Given the description of an element on the screen output the (x, y) to click on. 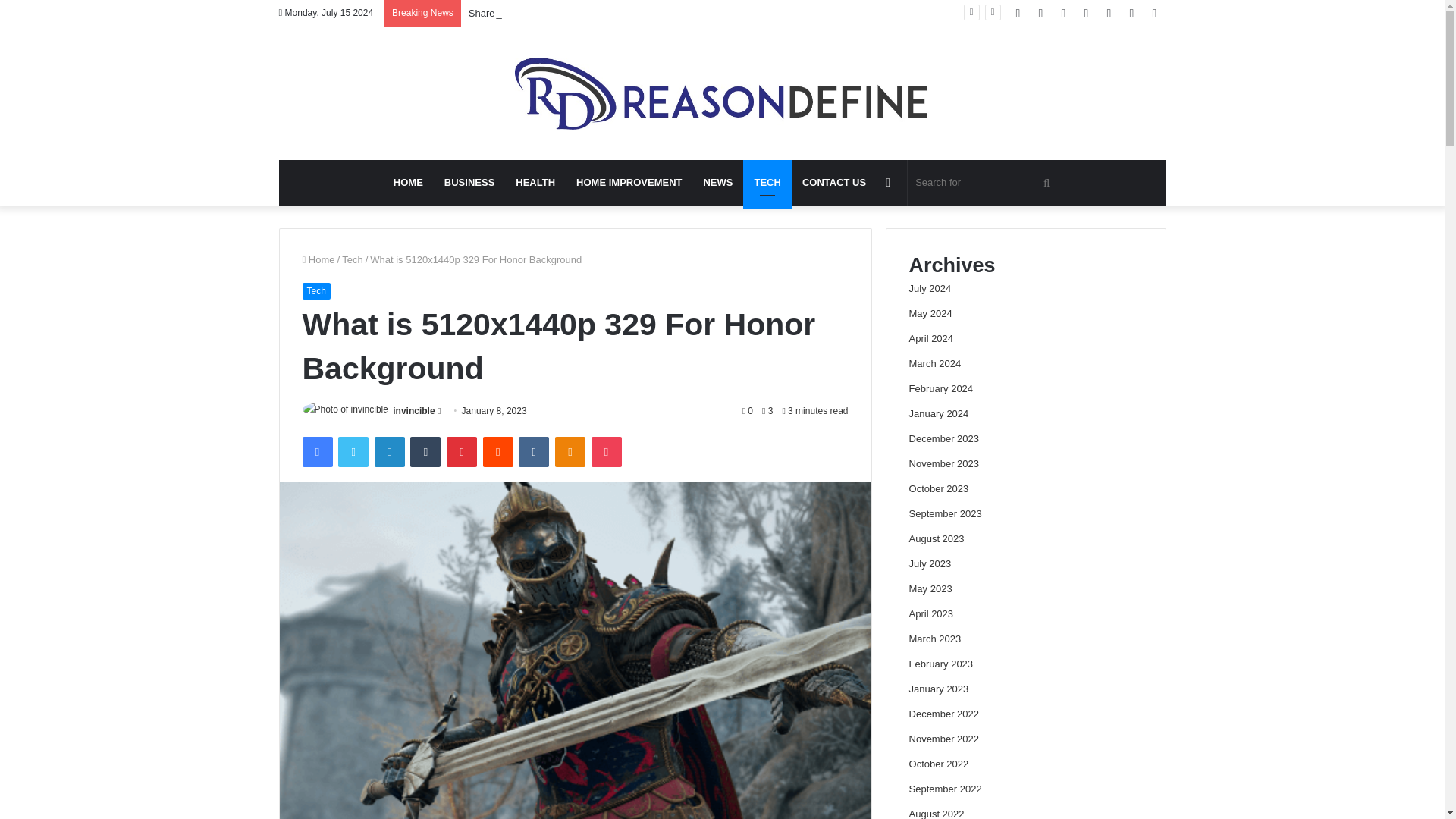
Tech (315, 290)
Facebook (316, 451)
Odnoklassniki (569, 451)
YouTube (1063, 13)
Pinterest (461, 451)
Pocket (606, 451)
Odnoklassniki (569, 451)
BUSINESS (469, 182)
NEWS (717, 182)
LinkedIn (389, 451)
Instagram (1086, 13)
HOME (407, 182)
HEALTH (535, 182)
Random Article (887, 182)
